Given the description of an element on the screen output the (x, y) to click on. 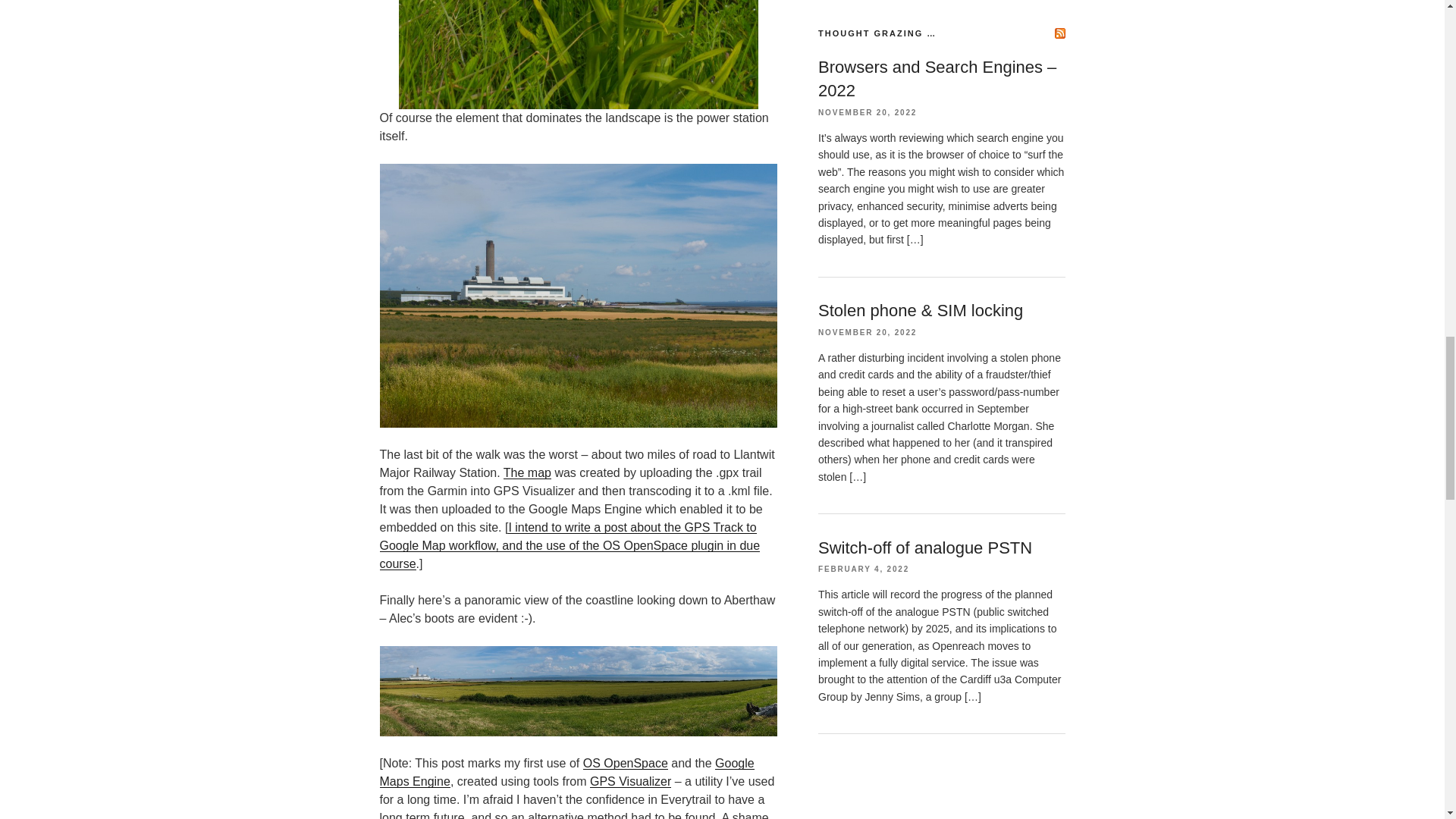
The map (527, 472)
